Given the description of an element on the screen output the (x, y) to click on. 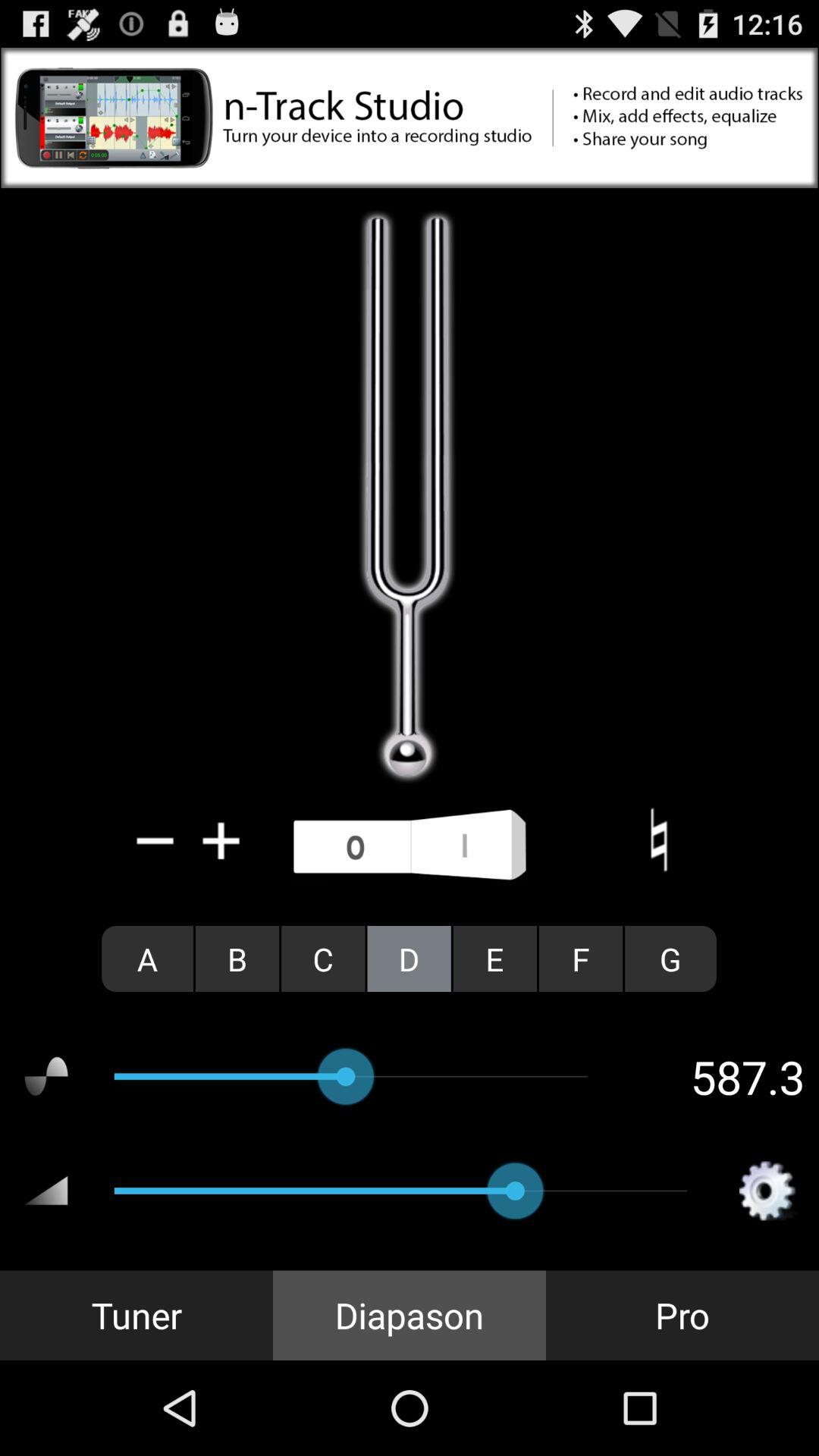
choose the item to the right of the f radio button (670, 958)
